Given the description of an element on the screen output the (x, y) to click on. 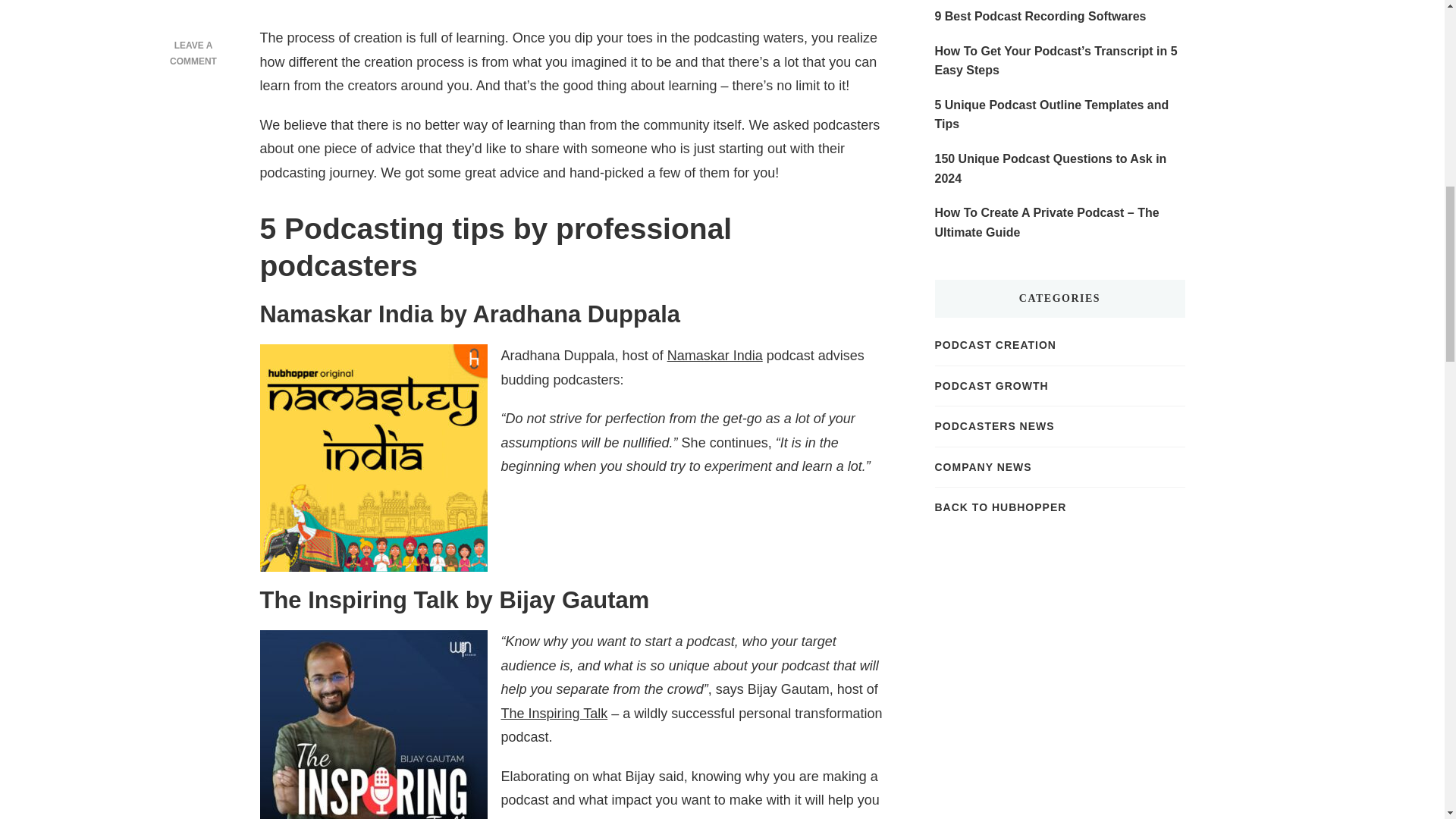
The Inspiring Talk (553, 713)
Namaskar India (714, 355)
